Given the description of an element on the screen output the (x, y) to click on. 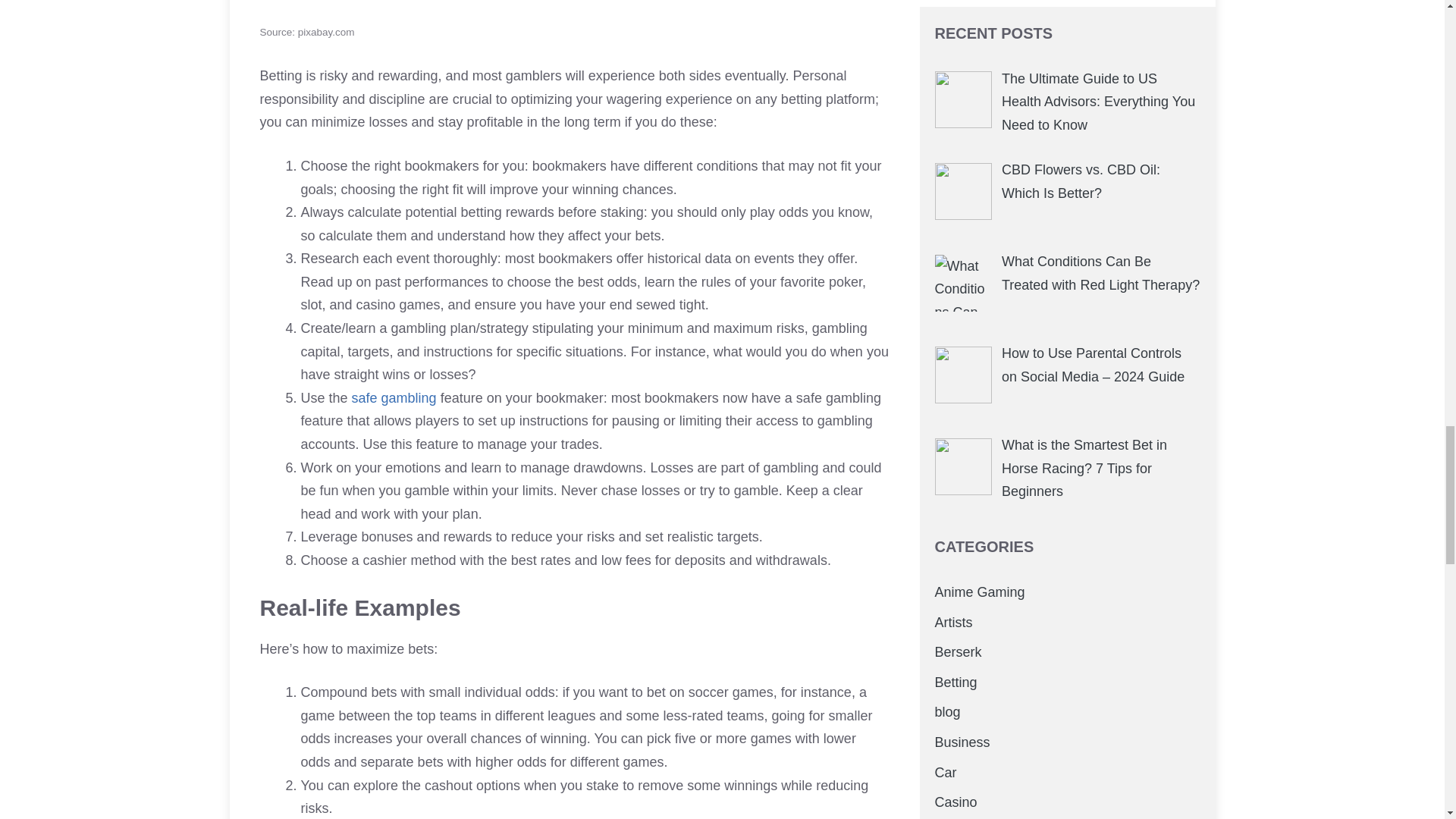
safe gambling (394, 397)
